Given the description of an element on the screen output the (x, y) to click on. 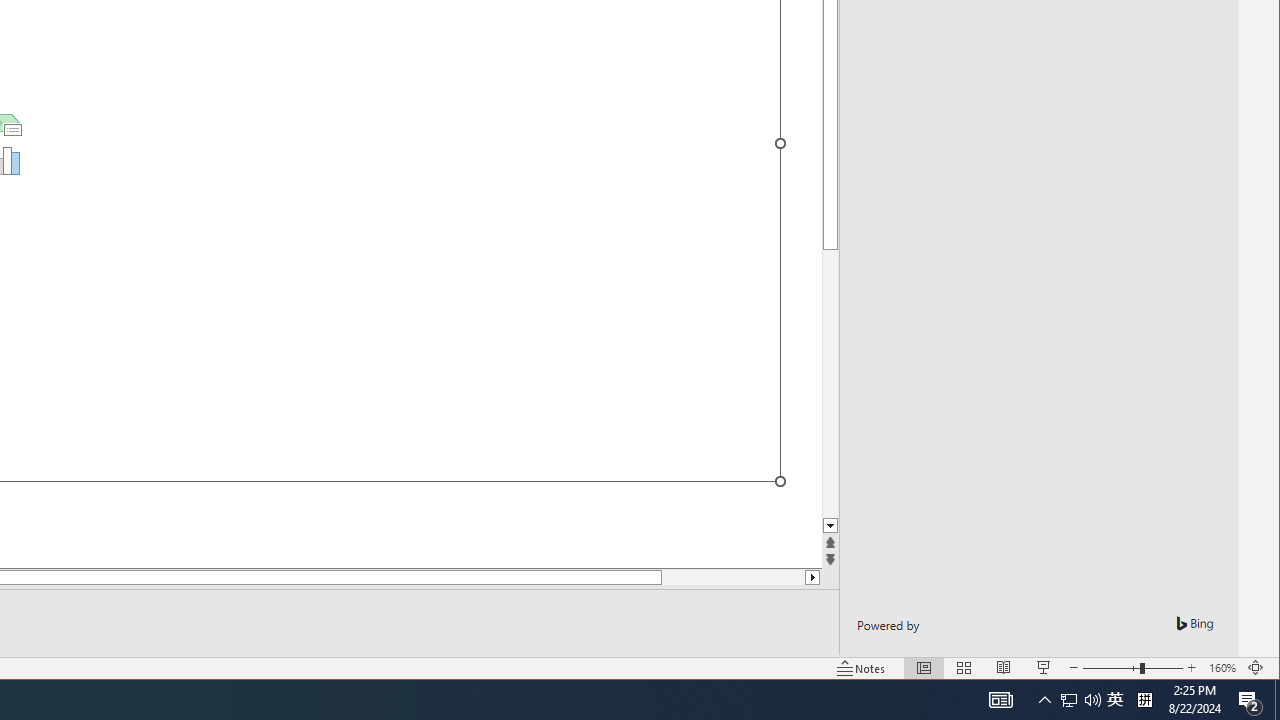
Zoom 160% (1222, 668)
